Given the description of an element on the screen output the (x, y) to click on. 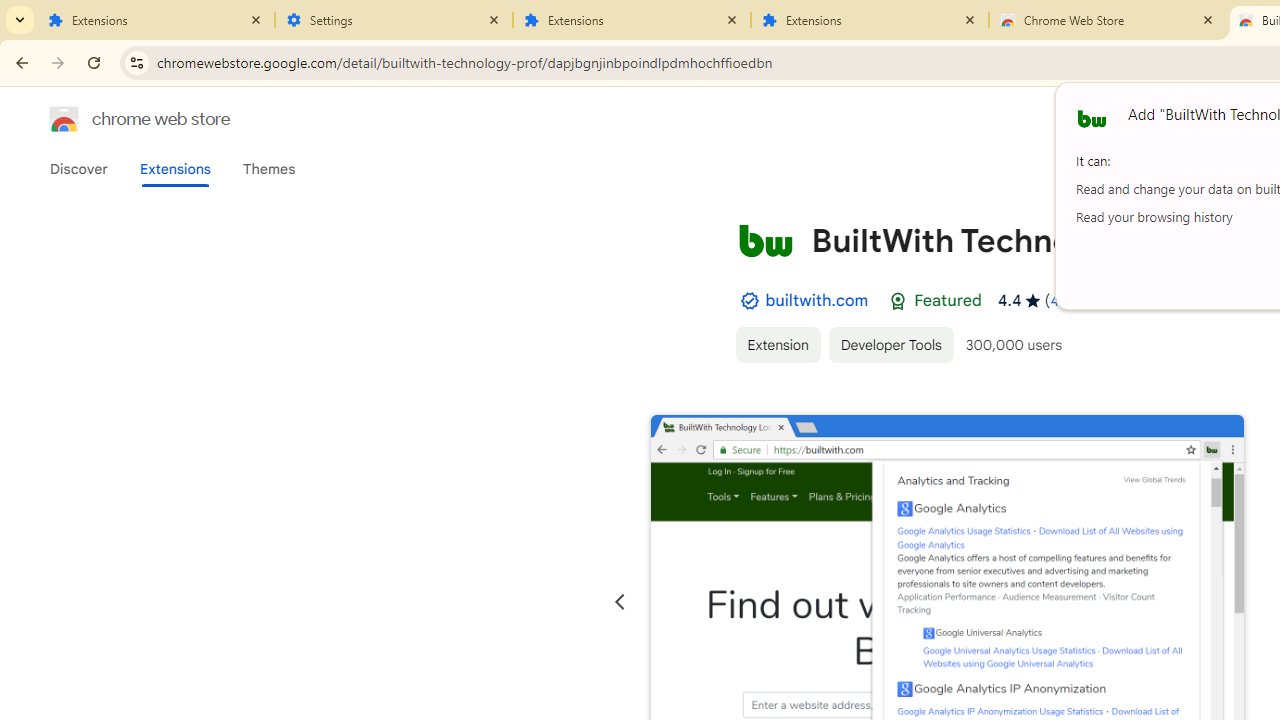
builtwith.com (817, 300)
Chrome Web Store logo chrome web store (118, 118)
Previous slide (619, 601)
Extensions (632, 20)
Extensions (870, 20)
Chrome Web Store (1108, 20)
Extensions (174, 169)
